Given the description of an element on the screen output the (x, y) to click on. 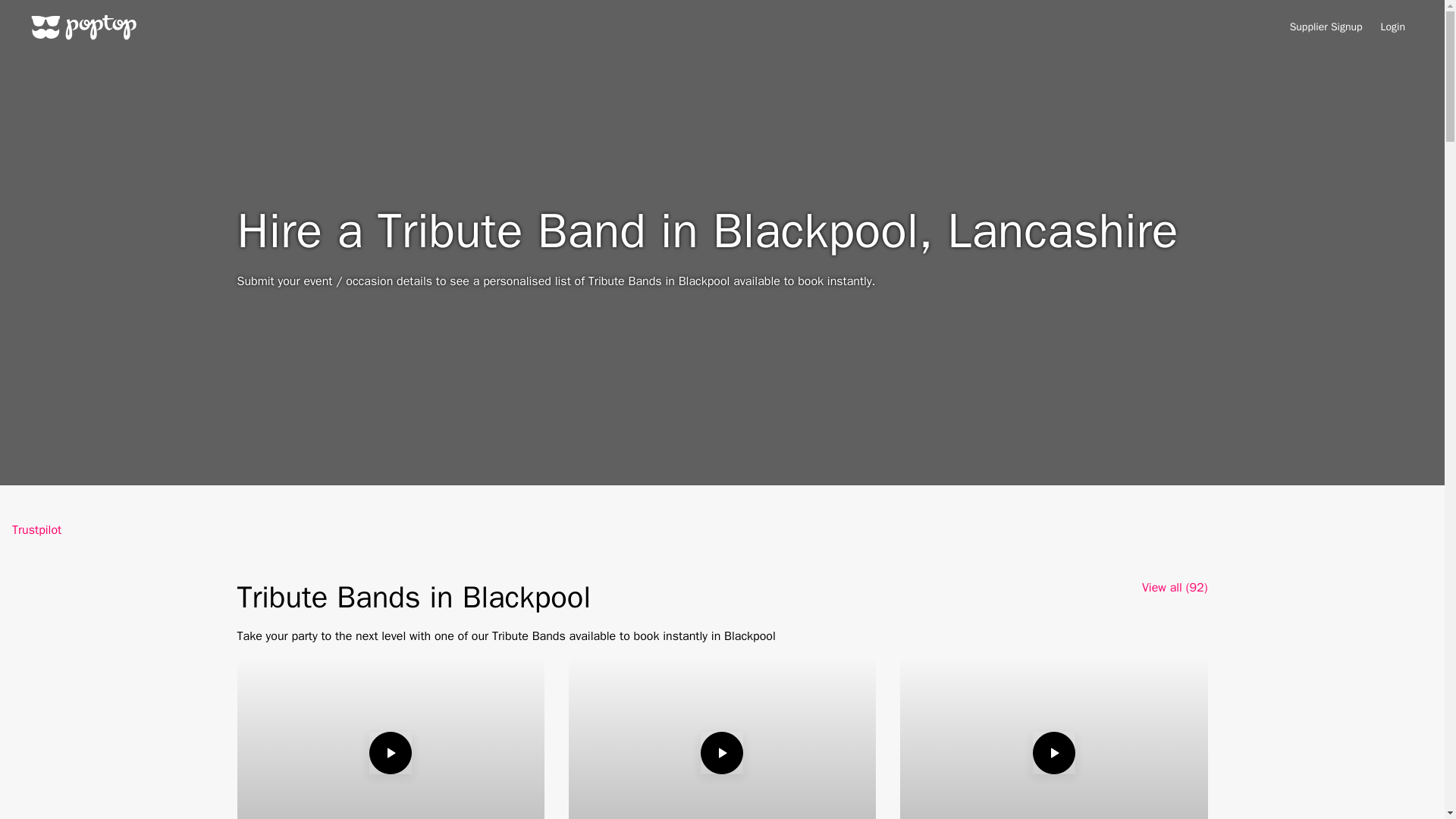
Login (1392, 26)
Supplier Signup (1326, 26)
Trustpilot (36, 529)
